Given the description of an element on the screen output the (x, y) to click on. 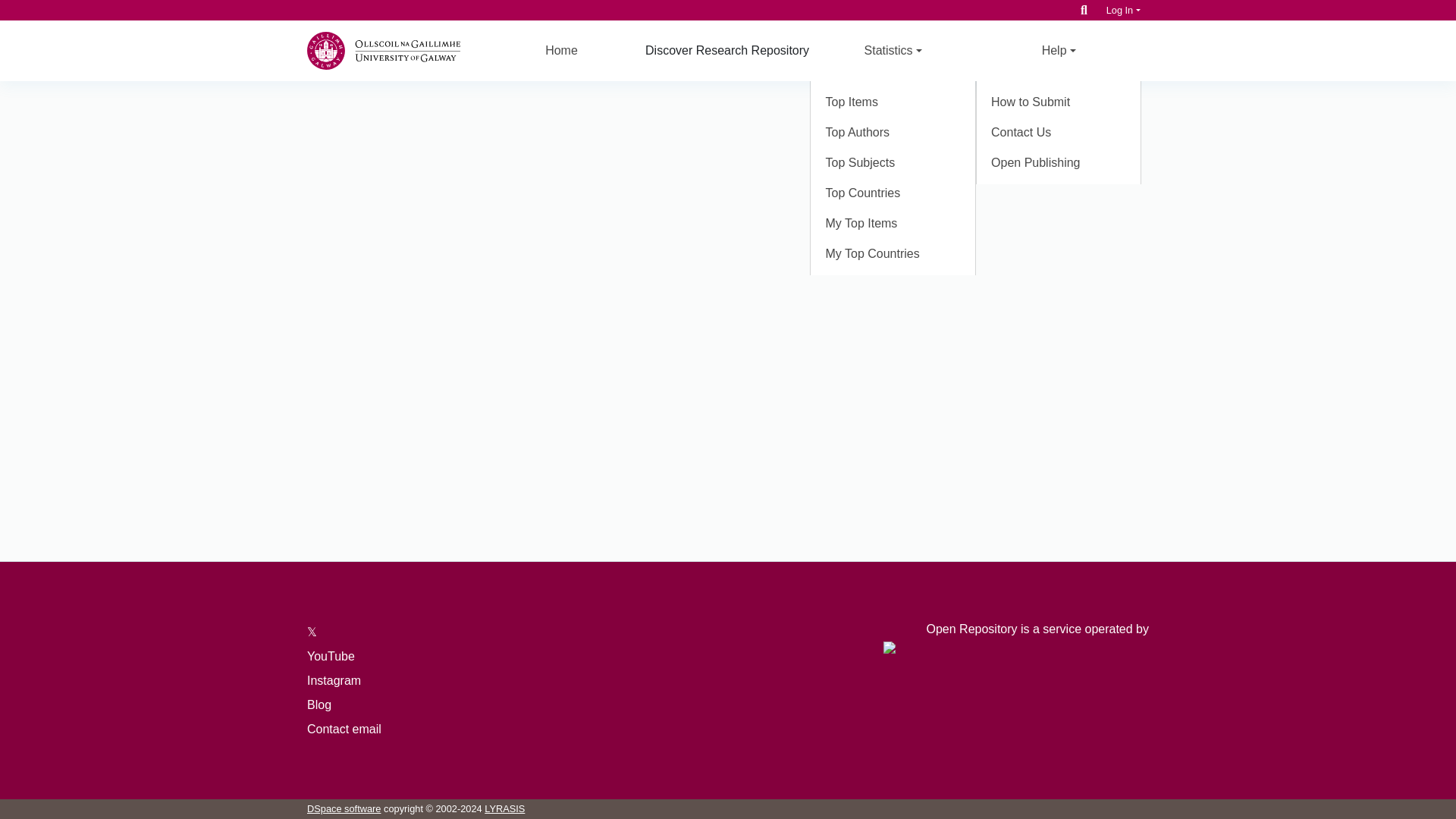
Top Items (892, 101)
Contact email (344, 728)
Statistics (892, 50)
Top Subjects (892, 163)
My Top Countries (892, 254)
Top Items (892, 101)
Home (562, 50)
How to Submit (1058, 101)
Open Publishing (1058, 163)
How to Submit (1058, 101)
Instagram (334, 680)
Blog (319, 704)
DSpace software (343, 808)
Home (562, 50)
YouTube (331, 656)
